Given the description of an element on the screen output the (x, y) to click on. 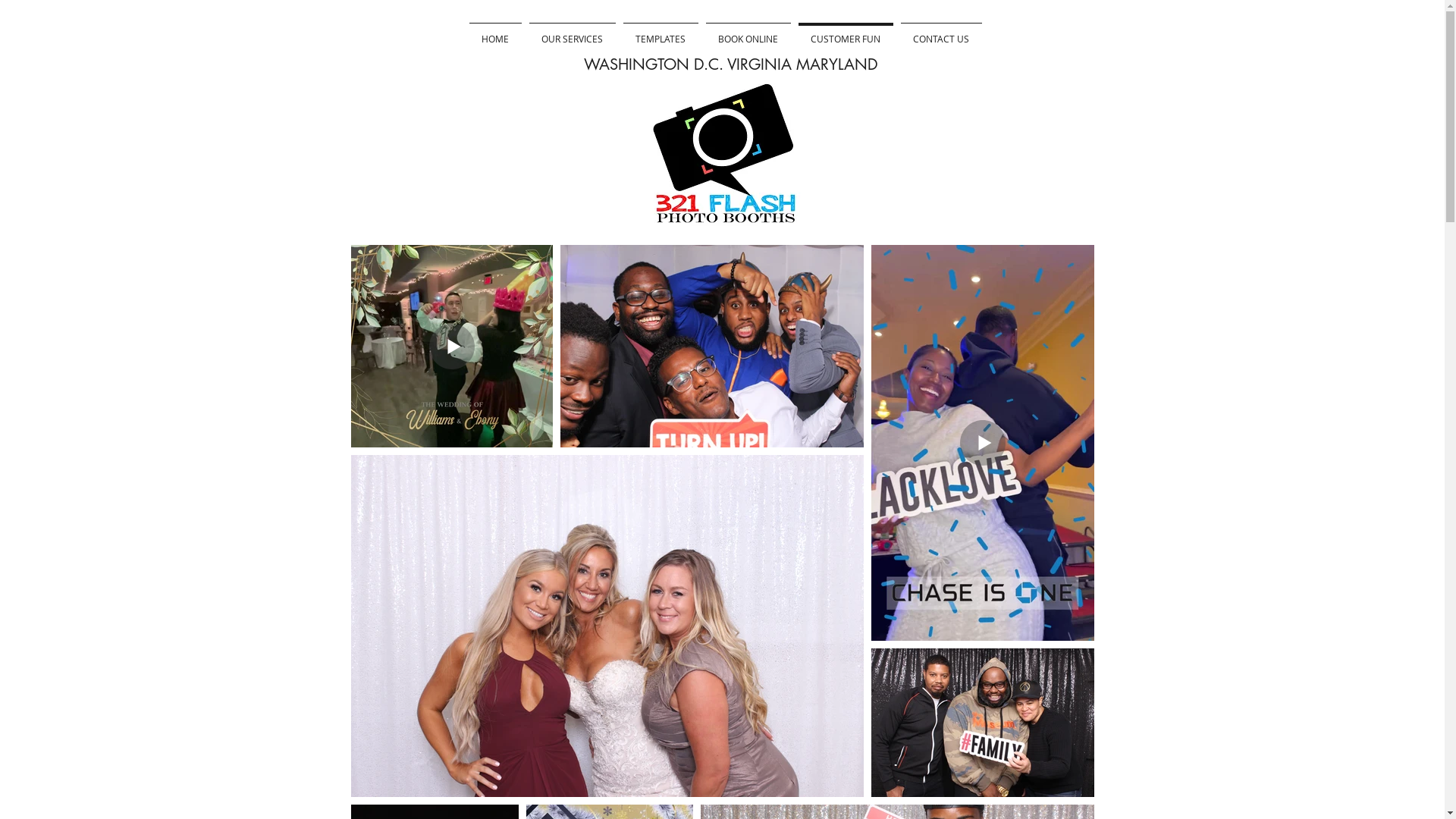
CUSTOMER FUN Element type: text (845, 31)
BOOK ONLINE Element type: text (748, 31)
OUR SERVICES Element type: text (571, 31)
TEMPLATES Element type: text (659, 31)
HOME Element type: text (495, 31)
CONTACT US Element type: text (940, 31)
